Given the description of an element on the screen output the (x, y) to click on. 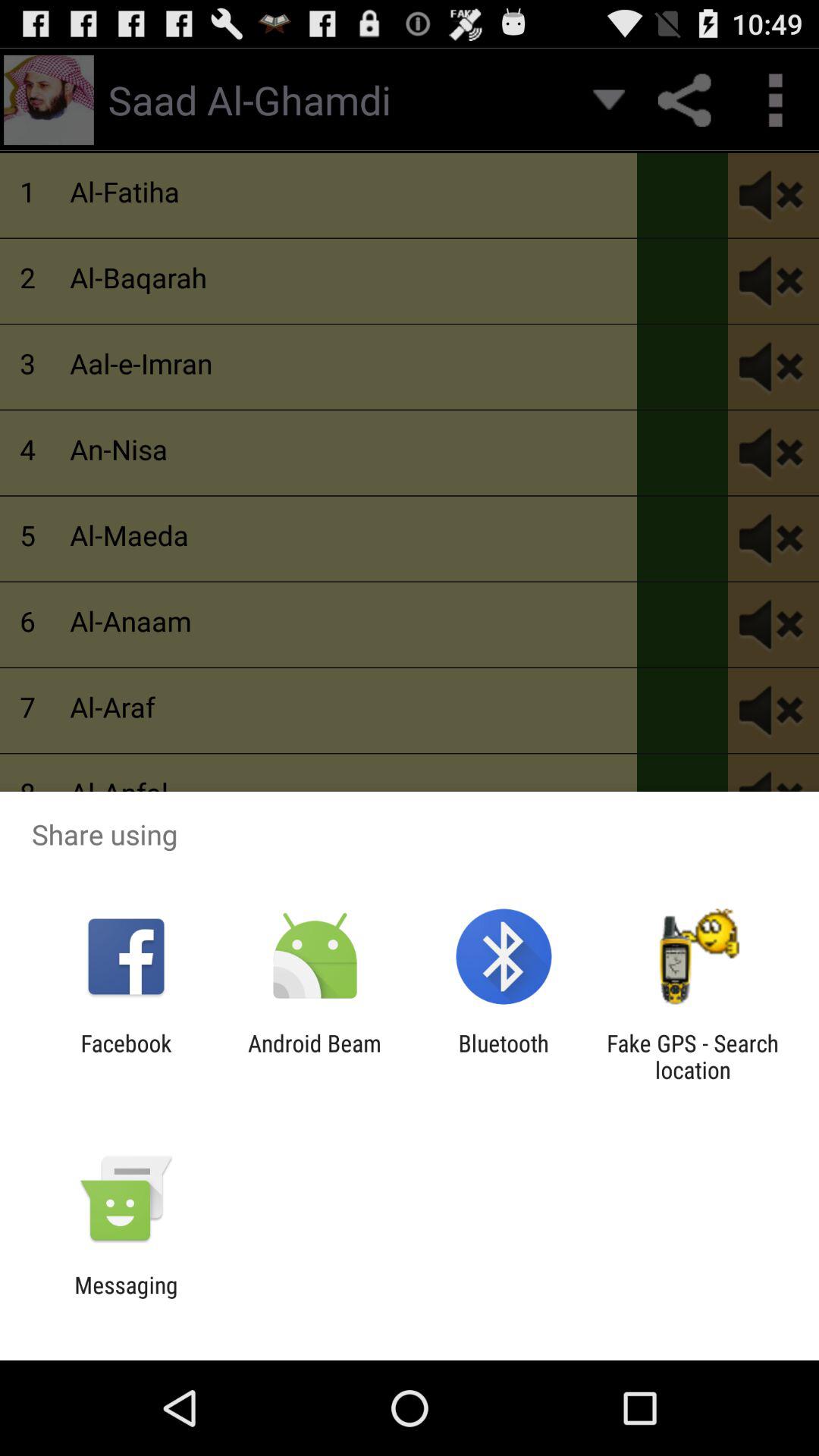
turn off app next to facebook (314, 1056)
